Given the description of an element on the screen output the (x, y) to click on. 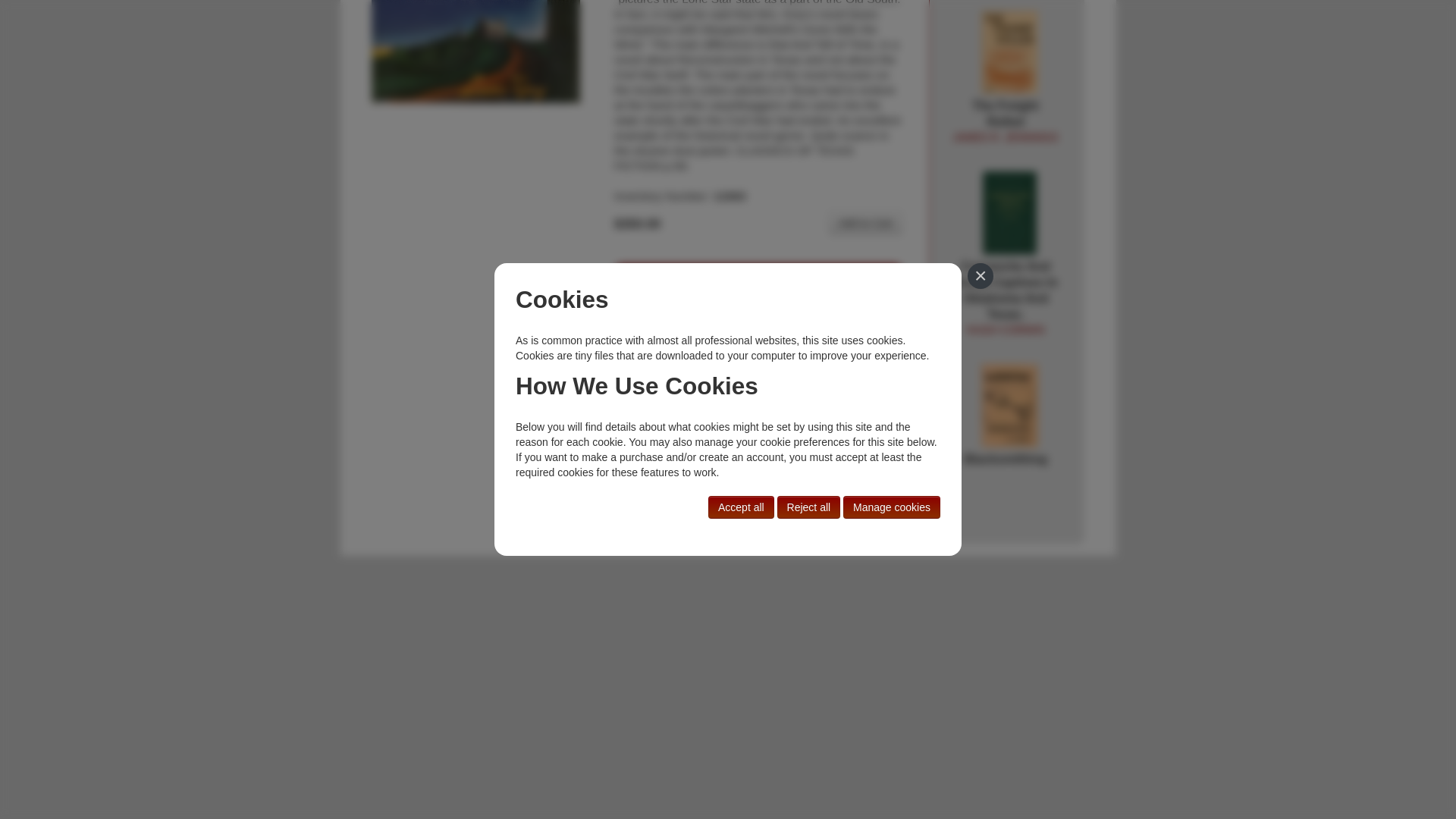
Comanche And Kiowa Captives In Oklahoma And Texas. (1005, 121)
The Freight Rolled JAMES R. JENNINGS (1005, 298)
The Freight Rolled (1009, 52)
Western Americana (1005, 121)
Add to Cart (672, 319)
Blacksmithing For The Home Craftsman JOE PEHOSKI (865, 222)
Western Fiction (1009, 406)
States, Territories (662, 304)
